Given the description of an element on the screen output the (x, y) to click on. 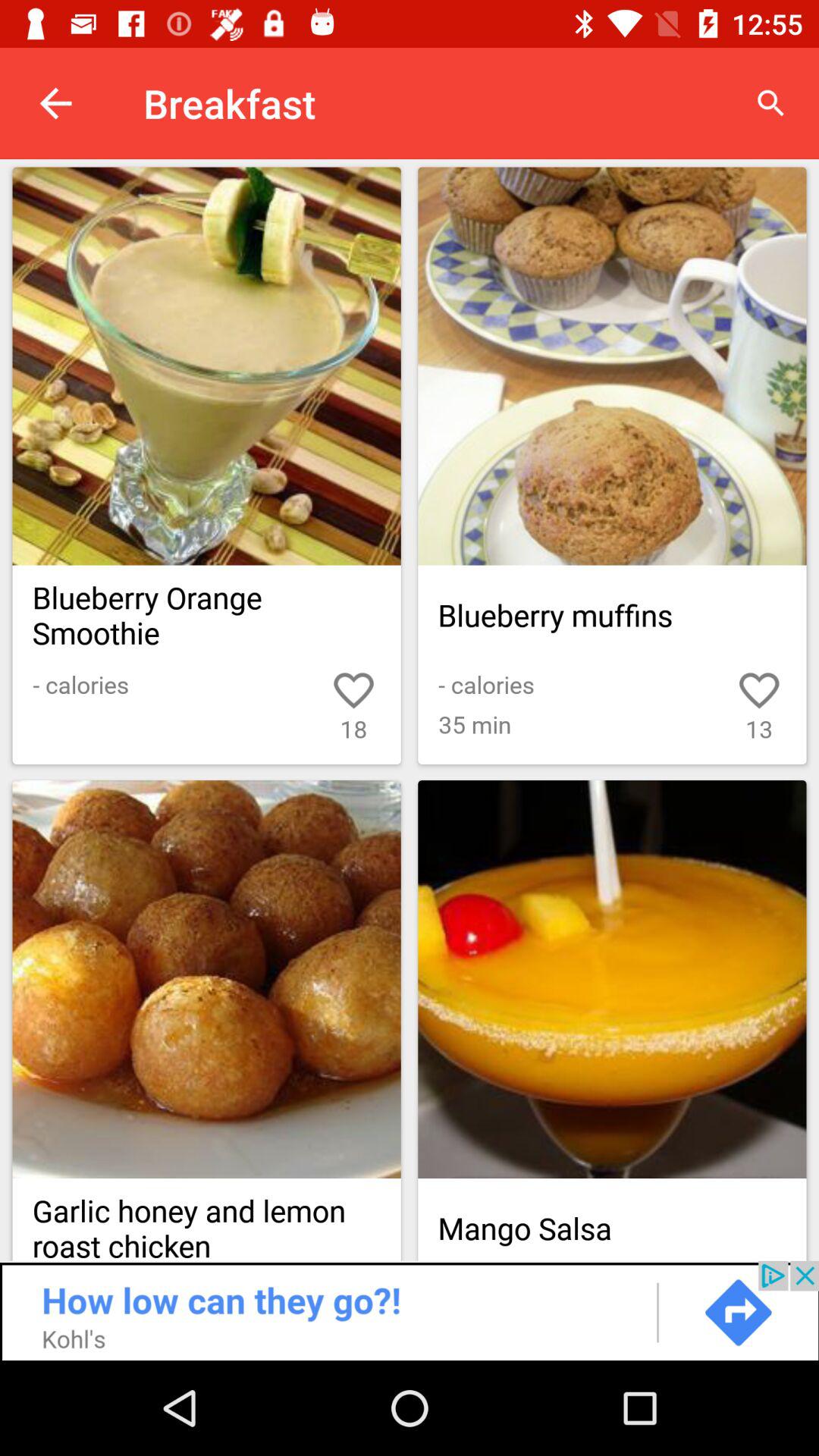
select recipe (612, 979)
